Given the description of an element on the screen output the (x, y) to click on. 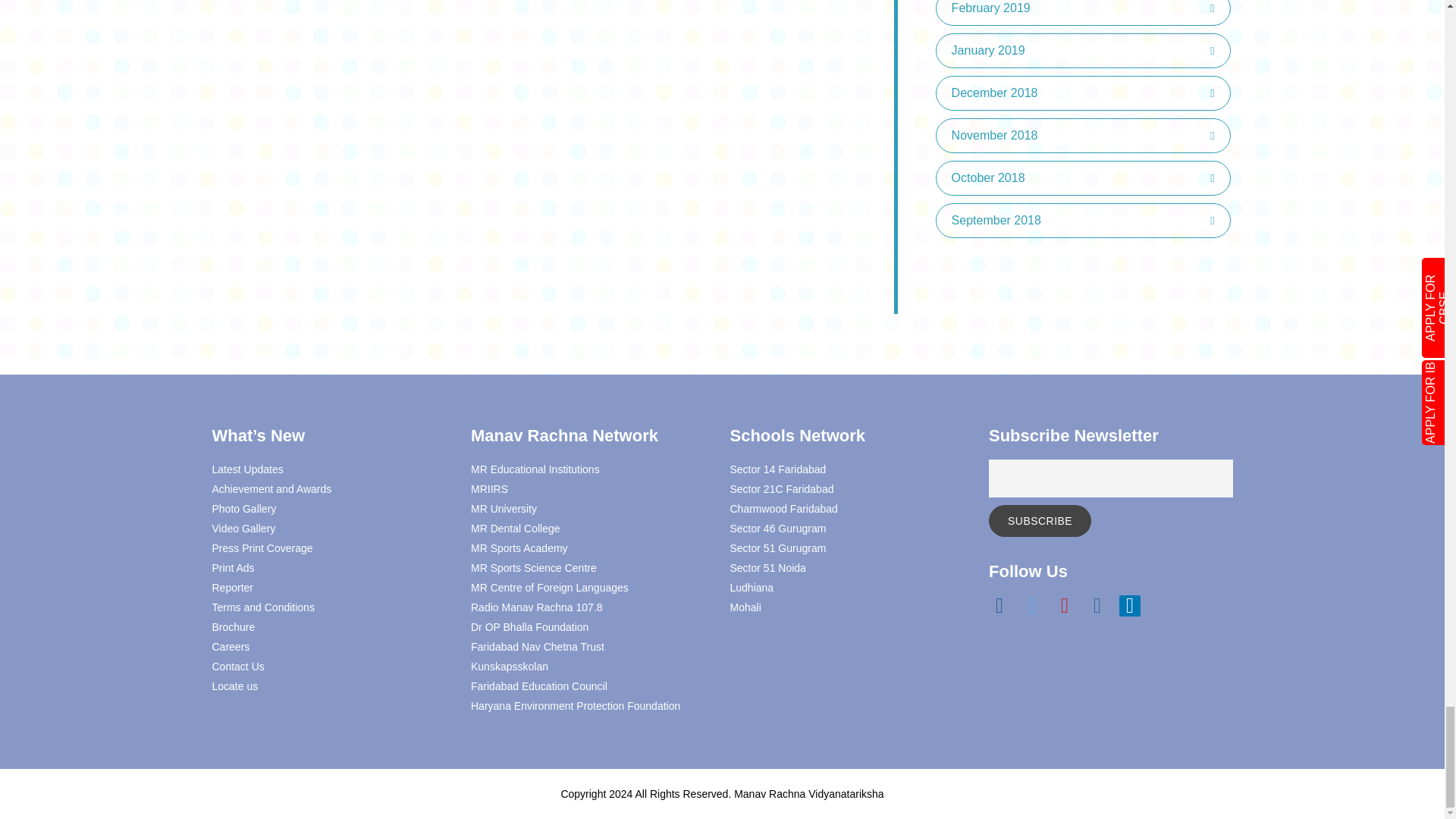
Subscribe (1039, 521)
